Given the description of an element on the screen output the (x, y) to click on. 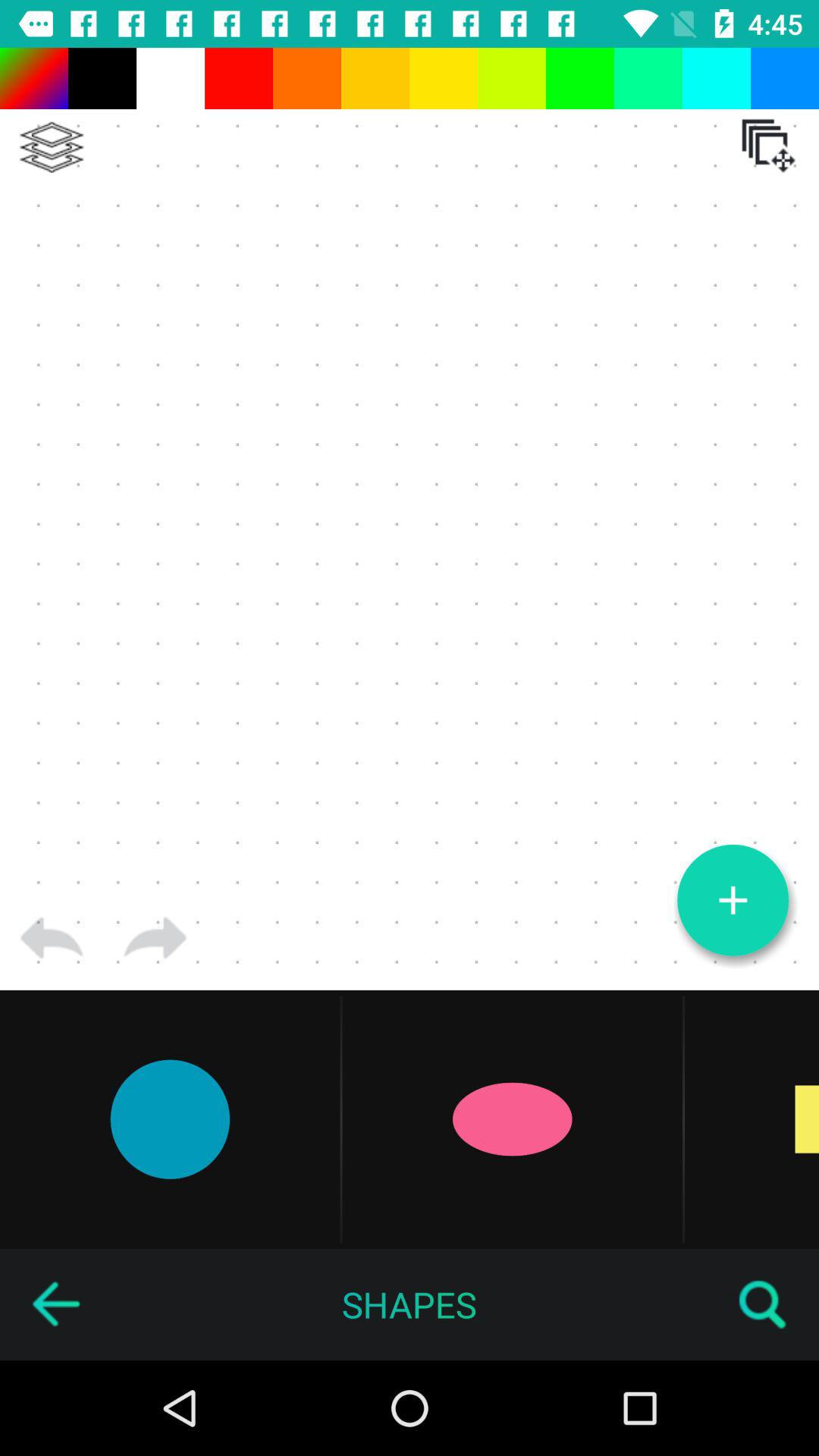
turn off the icon at the top right corner (768, 145)
